Given the description of an element on the screen output the (x, y) to click on. 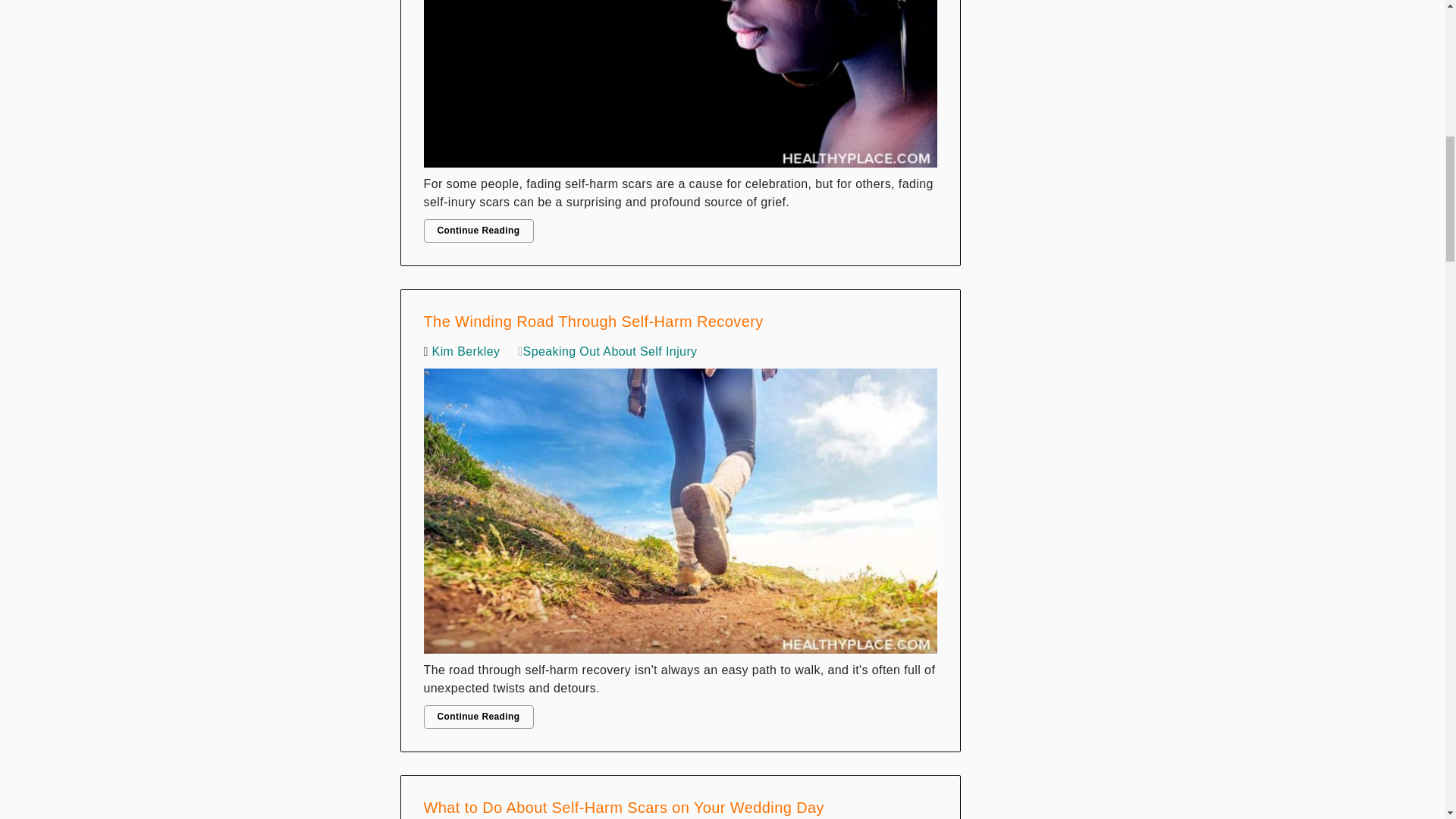
Fading Self-Harm Scars and Letting Go (680, 87)
